Given the description of an element on the screen output the (x, y) to click on. 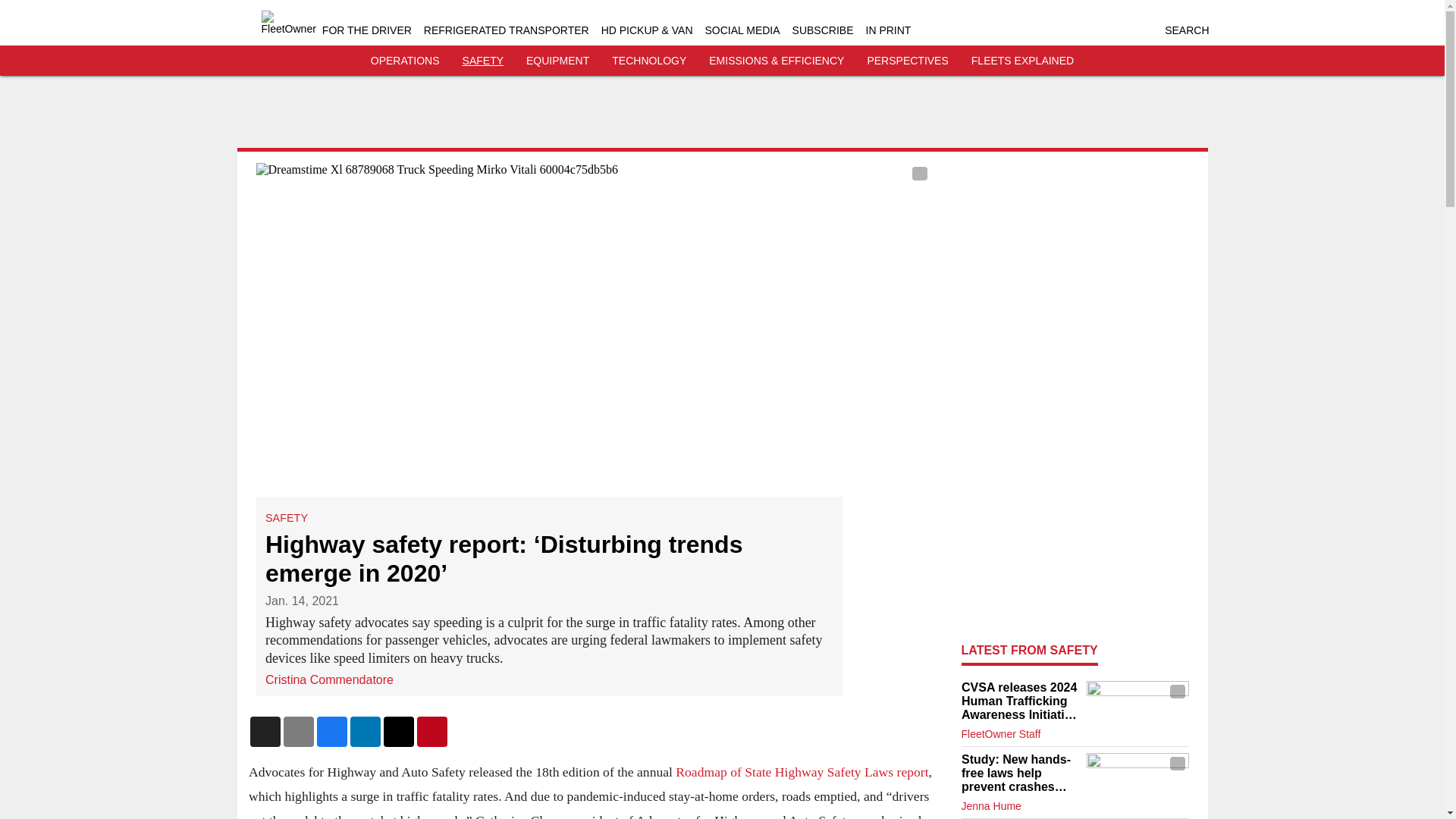
SEARCH (1186, 30)
EQUIPMENT (557, 60)
SAFETY (483, 60)
FLEETS EXPLAINED (1022, 60)
Cristina Commendatore (328, 679)
PERSPECTIVES (906, 60)
SOCIAL MEDIA (742, 30)
TECHNOLOGY (648, 60)
REFRIGERATED TRANSPORTER (506, 30)
SAFETY (285, 517)
SUBSCRIBE (822, 30)
Roadmap of State Highway Safety Laws report (801, 771)
OPERATIONS (405, 60)
FOR THE DRIVER (366, 30)
IN PRINT (888, 30)
